Given the description of an element on the screen output the (x, y) to click on. 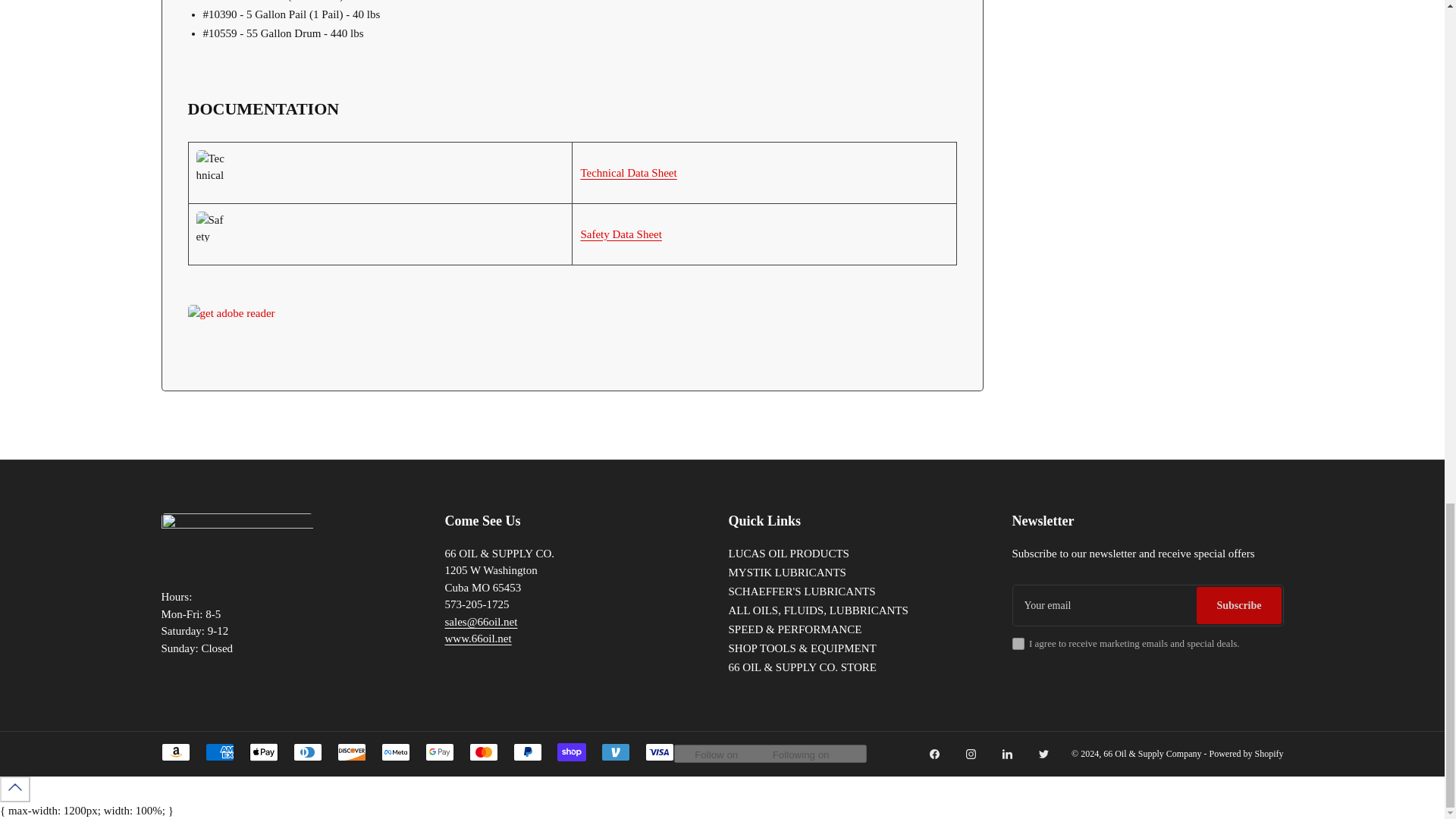
Meta Pay (394, 751)
Discover (350, 751)
Apple Pay (263, 751)
American Express (218, 751)
Amazon (174, 751)
on (1017, 644)
Diners Club (306, 751)
Google Pay (438, 751)
